Given the description of an element on the screen output the (x, y) to click on. 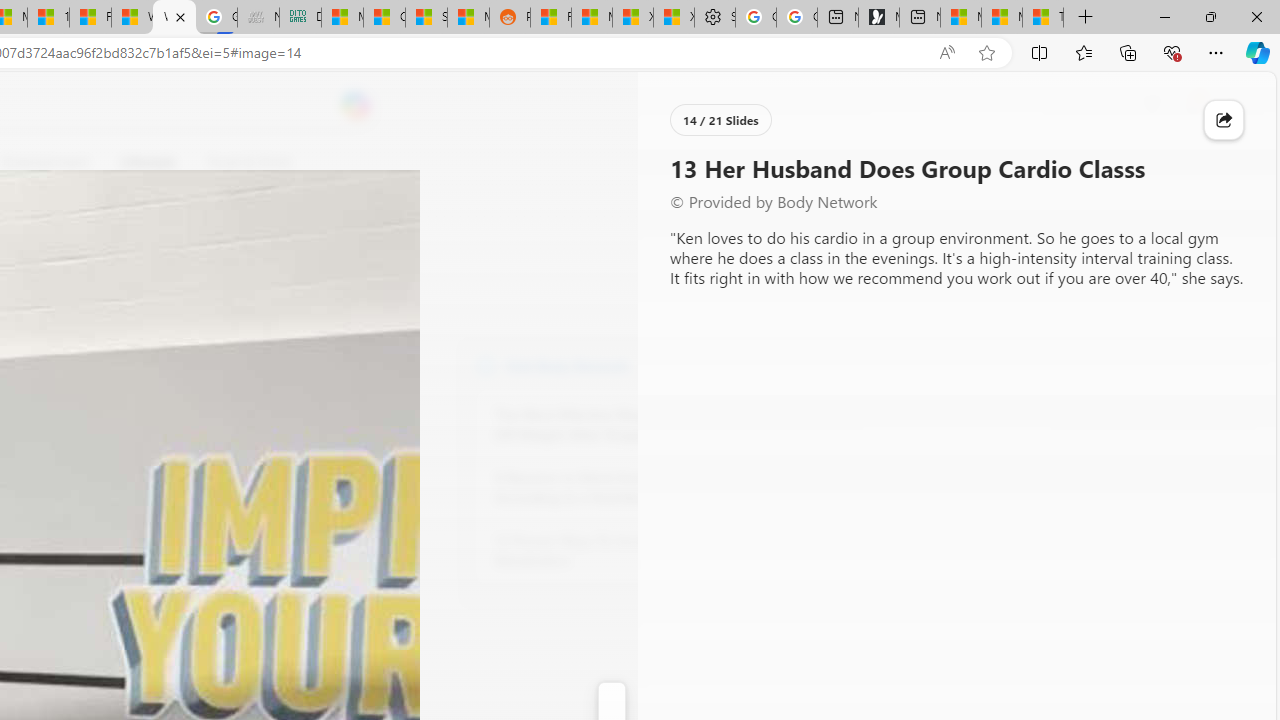
R******* | Trusted Community Engagement and Contributions (550, 17)
Fitness - MSN (90, 17)
Personalize (711, 162)
